Given the description of an element on the screen output the (x, y) to click on. 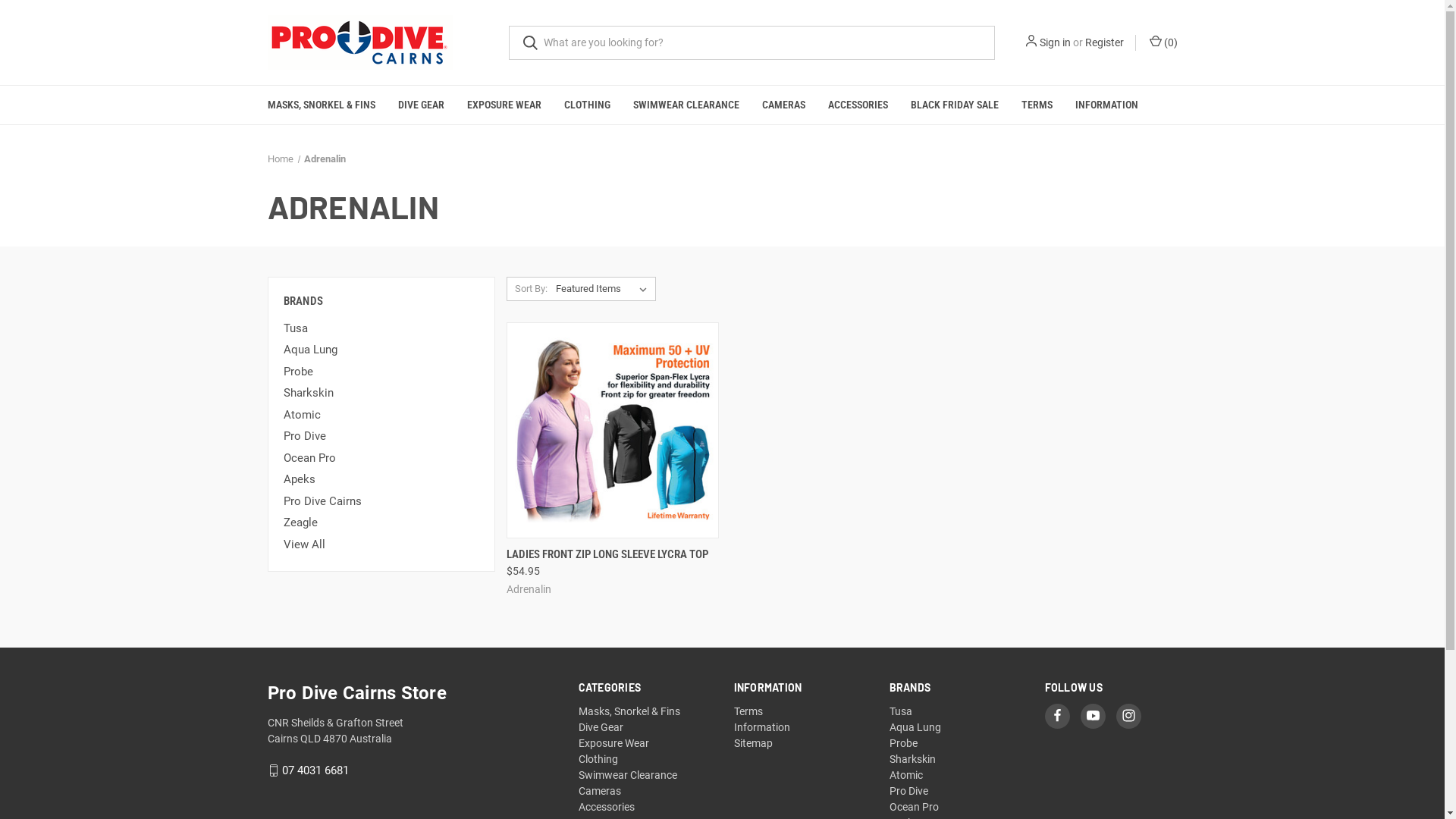
BLACK FRIDAY SALE Element type: text (954, 104)
Sign in Element type: text (1054, 42)
Atomic Element type: text (905, 774)
(0) Element type: text (1161, 42)
INFORMATION Element type: text (1105, 104)
Accessories Element type: text (606, 806)
Zeagle Element type: text (381, 522)
QUICK VIEW Element type: text (608, 548)
CAMERAS Element type: text (783, 104)
View All Element type: text (381, 544)
Pro Dive Cairns Element type: text (381, 501)
Ocean Pro Element type: text (381, 458)
DIVE GEAR Element type: text (420, 104)
Register Element type: text (1103, 42)
Aqua Lung Element type: text (915, 727)
Probe Element type: text (903, 743)
Apeks Element type: text (381, 479)
Pro Dive Cairns Store Element type: hover (358, 42)
Tusa Element type: text (900, 711)
Aqua Lung Element type: text (381, 349)
CLOTHING Element type: text (586, 104)
Atomic Element type: text (381, 415)
Ocean Pro Element type: text (913, 806)
EXPOSURE WEAR Element type: text (503, 104)
Pro Dive Element type: text (381, 436)
Sharkskin Element type: text (912, 759)
Masks, Snorkel & Fins Element type: text (629, 711)
Adrenalin Element type: text (324, 158)
Information Element type: text (762, 727)
LADIES FRONT ZIP LONG SLEEVE LYCRA TOP Element type: text (607, 554)
MASKS, SNORKEL & FINS Element type: text (321, 104)
07 4031 6681 Element type: text (315, 770)
Tusa Element type: text (381, 328)
Sharkskin Element type: text (381, 393)
Sitemap Element type: text (753, 743)
SWIMWEAR CLEARANCE Element type: text (685, 104)
Probe Element type: text (381, 371)
Exposure Wear Element type: text (613, 743)
Swimwear Clearance Element type: text (627, 774)
TERMS Element type: text (1036, 104)
Dive Gear Element type: text (600, 727)
Home Element type: text (279, 158)
Terms Element type: text (748, 711)
Ladies Front Zip Long Sleeve Lycra Top Element type: hover (612, 429)
Clothing Element type: text (598, 759)
Cameras Element type: text (599, 790)
ACCESSORIES Element type: text (856, 104)
Pro Dive Element type: text (908, 790)
